Given the description of an element on the screen output the (x, y) to click on. 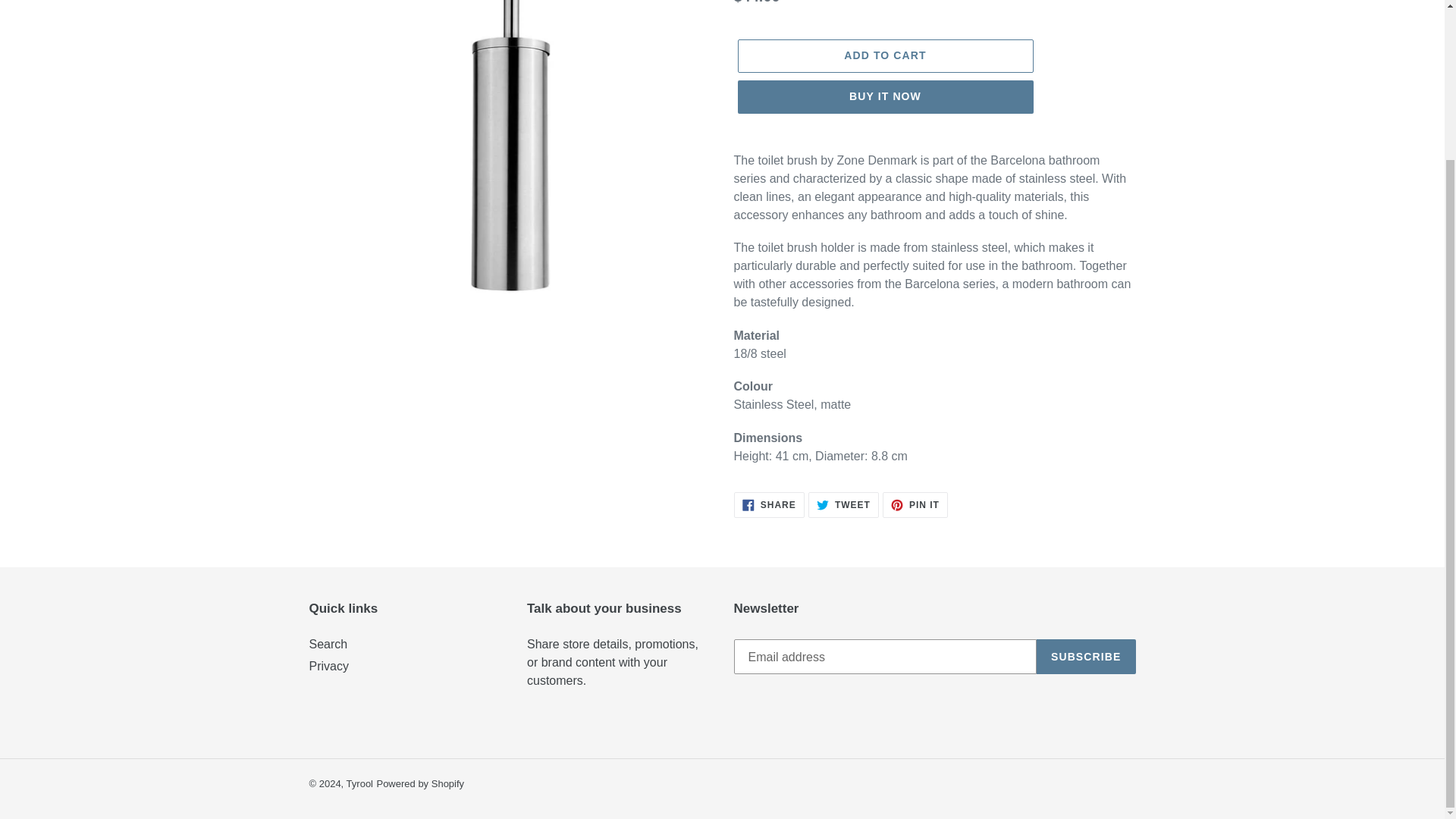
Privacy (769, 504)
BUY IT NOW (328, 666)
Tyrool (914, 504)
Powered by Shopify (884, 96)
ADD TO CART (359, 783)
Search (419, 783)
SUBSCRIBE (884, 55)
